Given the description of an element on the screen output the (x, y) to click on. 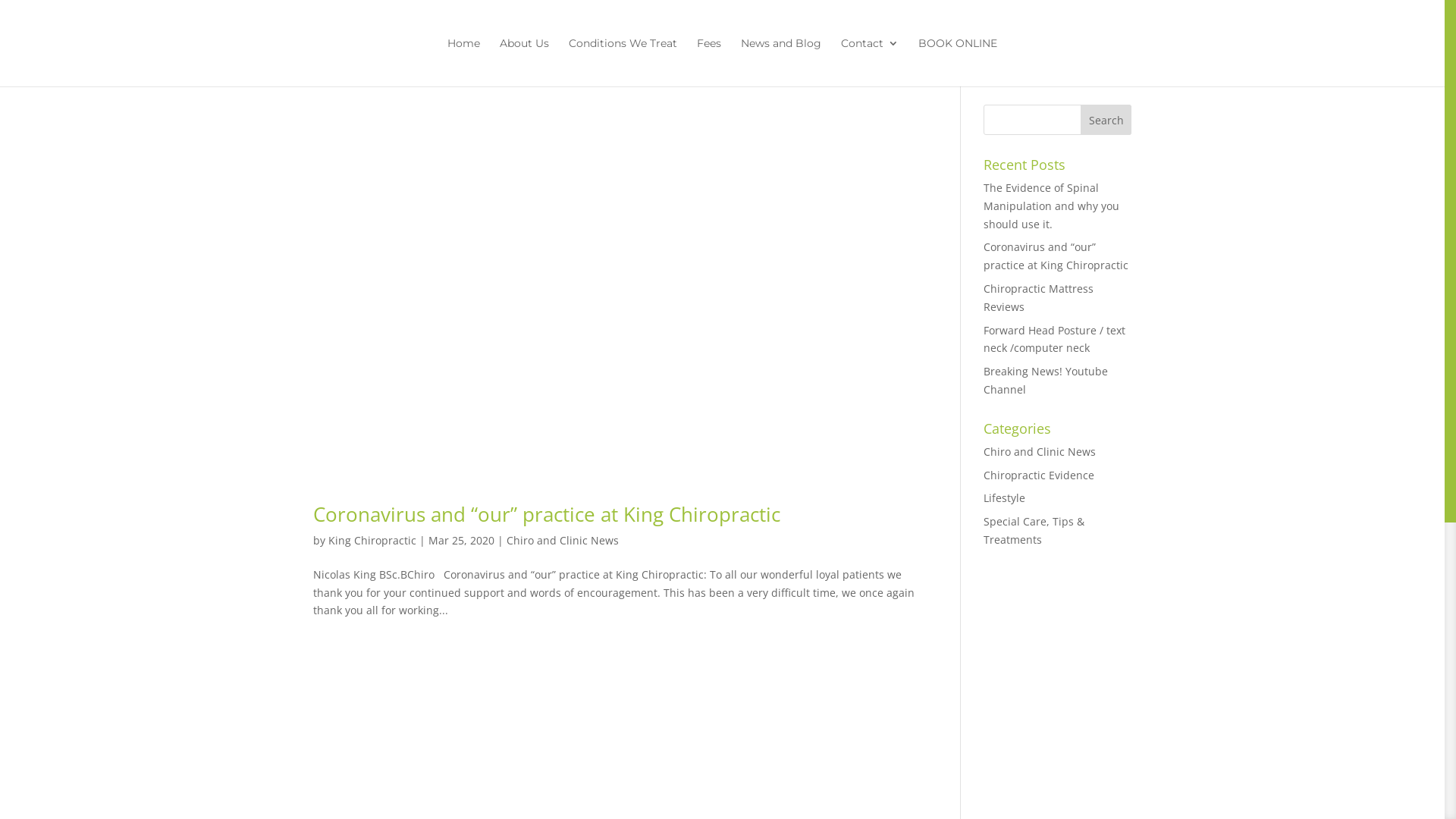
King Chiropractic Element type: text (371, 540)
Lifestyle Element type: text (1004, 497)
Special Care, Tips & Treatments Element type: text (1033, 530)
Contact Element type: text (869, 61)
About Us Element type: text (524, 61)
Forward Head Posture / text neck /computer neck Element type: text (1054, 339)
Conditions We Treat Element type: text (622, 61)
BOOK ONLINE Element type: text (957, 61)
Chiropractic Evidence Element type: text (1038, 474)
Chiro and Clinic News Element type: text (562, 540)
Search Element type: text (1106, 119)
News and Blog Element type: text (780, 61)
Fees Element type: text (708, 61)
Breaking News! Youtube Channel Element type: text (1045, 380)
Chiropractic Mattress Reviews Element type: text (1038, 297)
Home Element type: text (463, 61)
Chiro and Clinic News Element type: text (1039, 451)
